Given the description of an element on the screen output the (x, y) to click on. 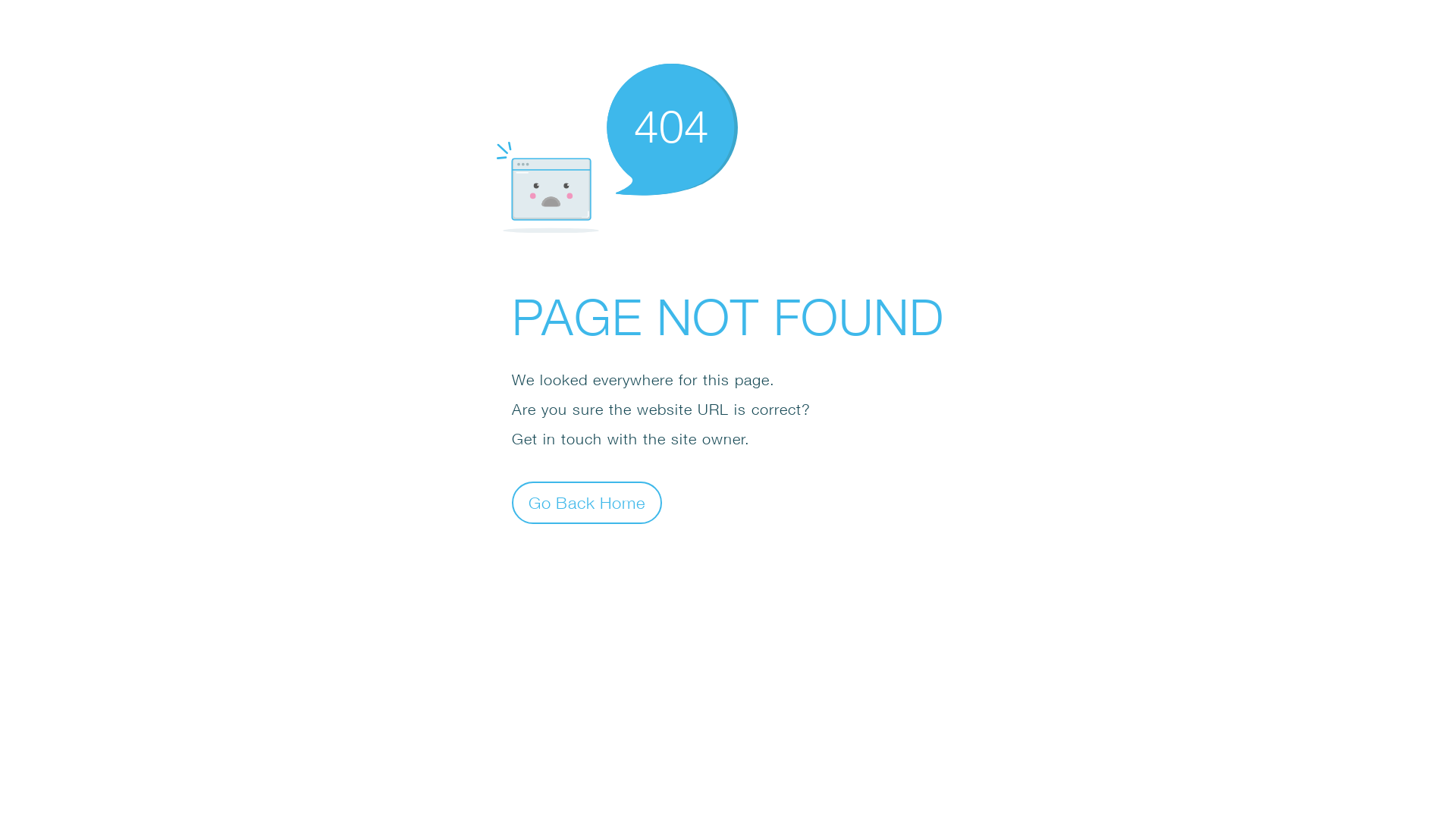
Go Back Home Element type: text (586, 502)
